Given the description of an element on the screen output the (x, y) to click on. 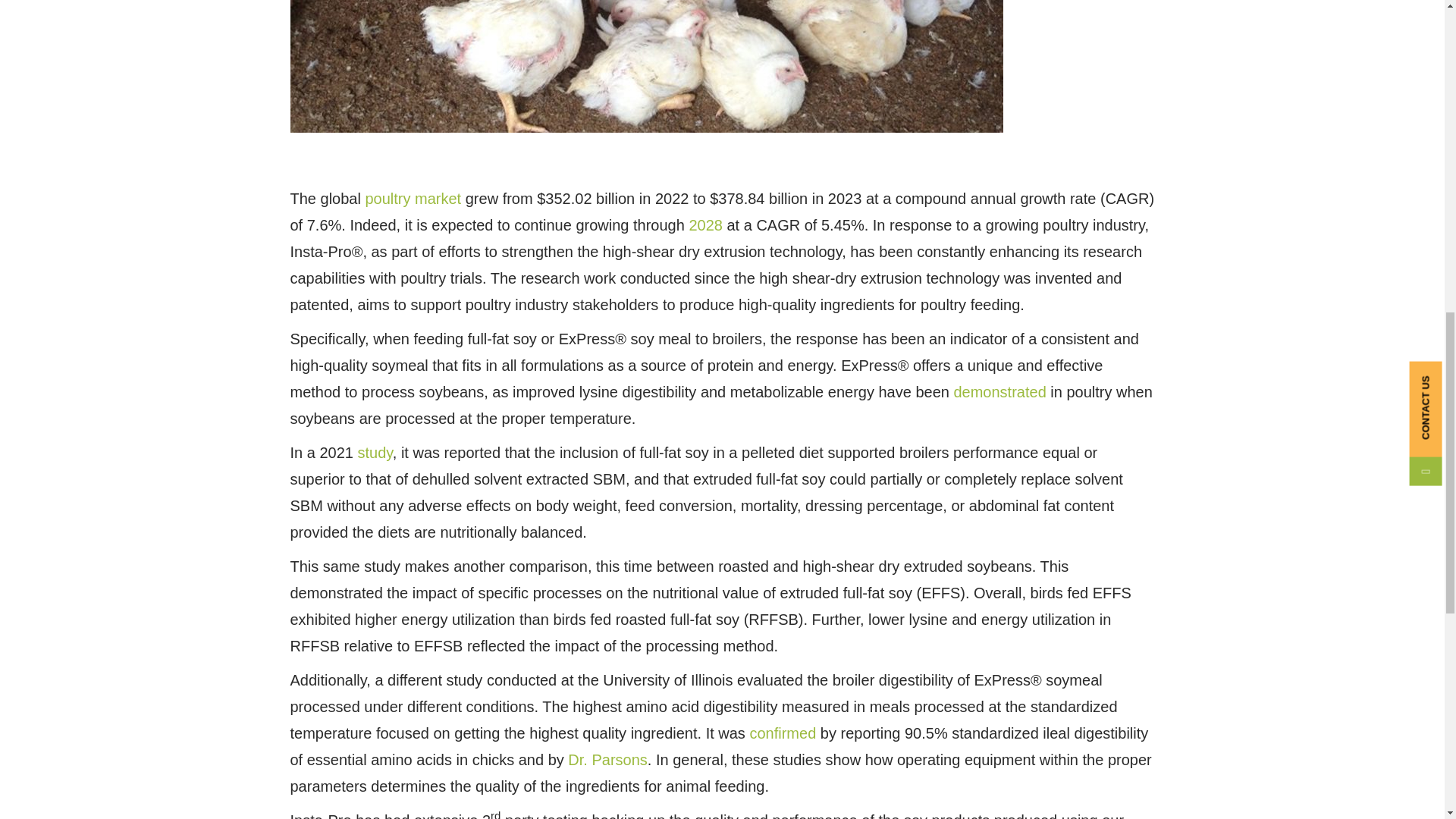
poultry market (413, 197)
